Given the description of an element on the screen output the (x, y) to click on. 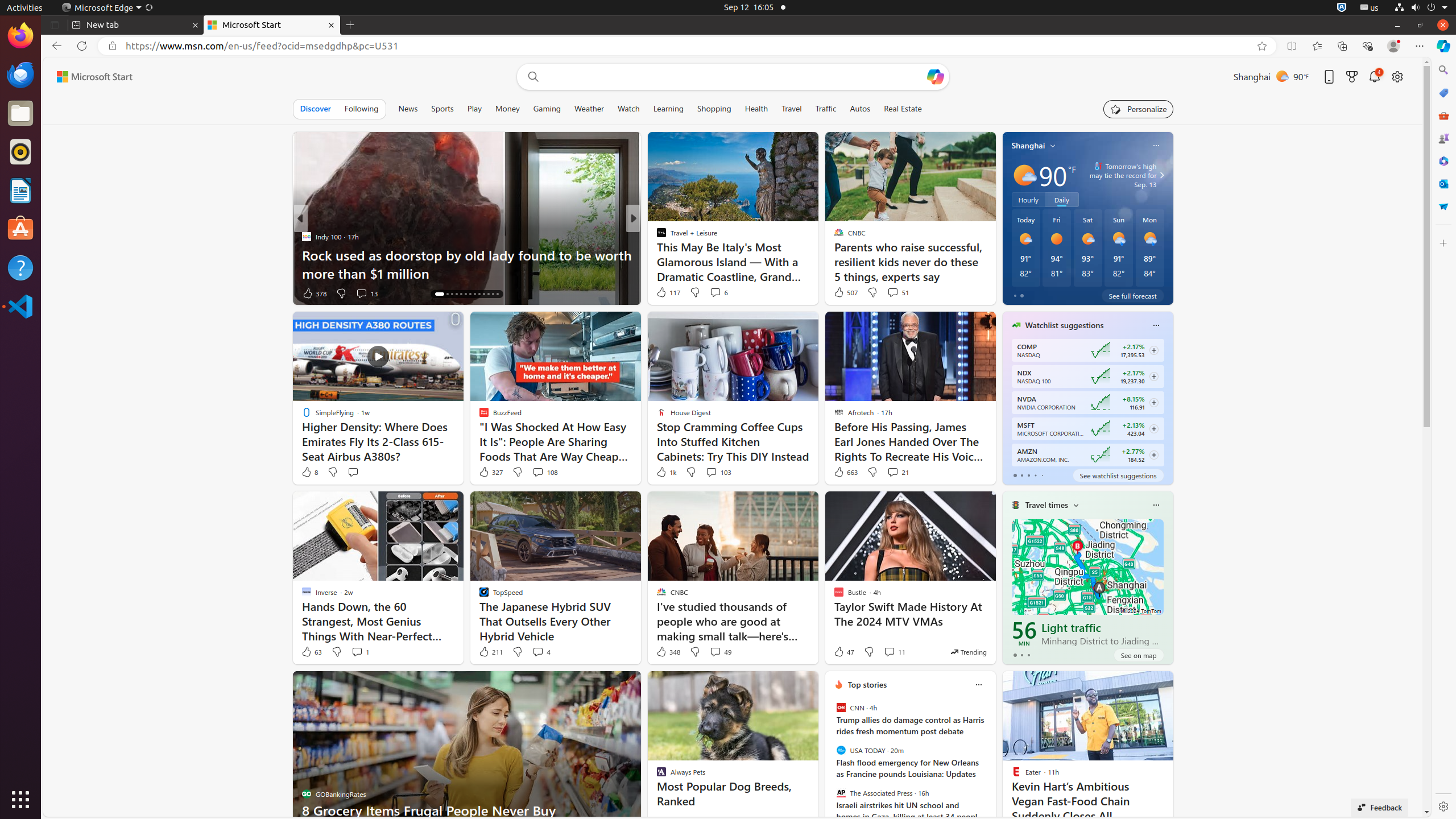
Money Element type: link (506, 108)
:1.21/StatusNotifierItem Element type: menu (1369, 7)
View comments 21 Comment Element type: link (897, 472)
Change scenarios Element type: push-button (1076, 504)
Shanghai Element type: link (1028, 145)
